Given the description of an element on the screen output the (x, y) to click on. 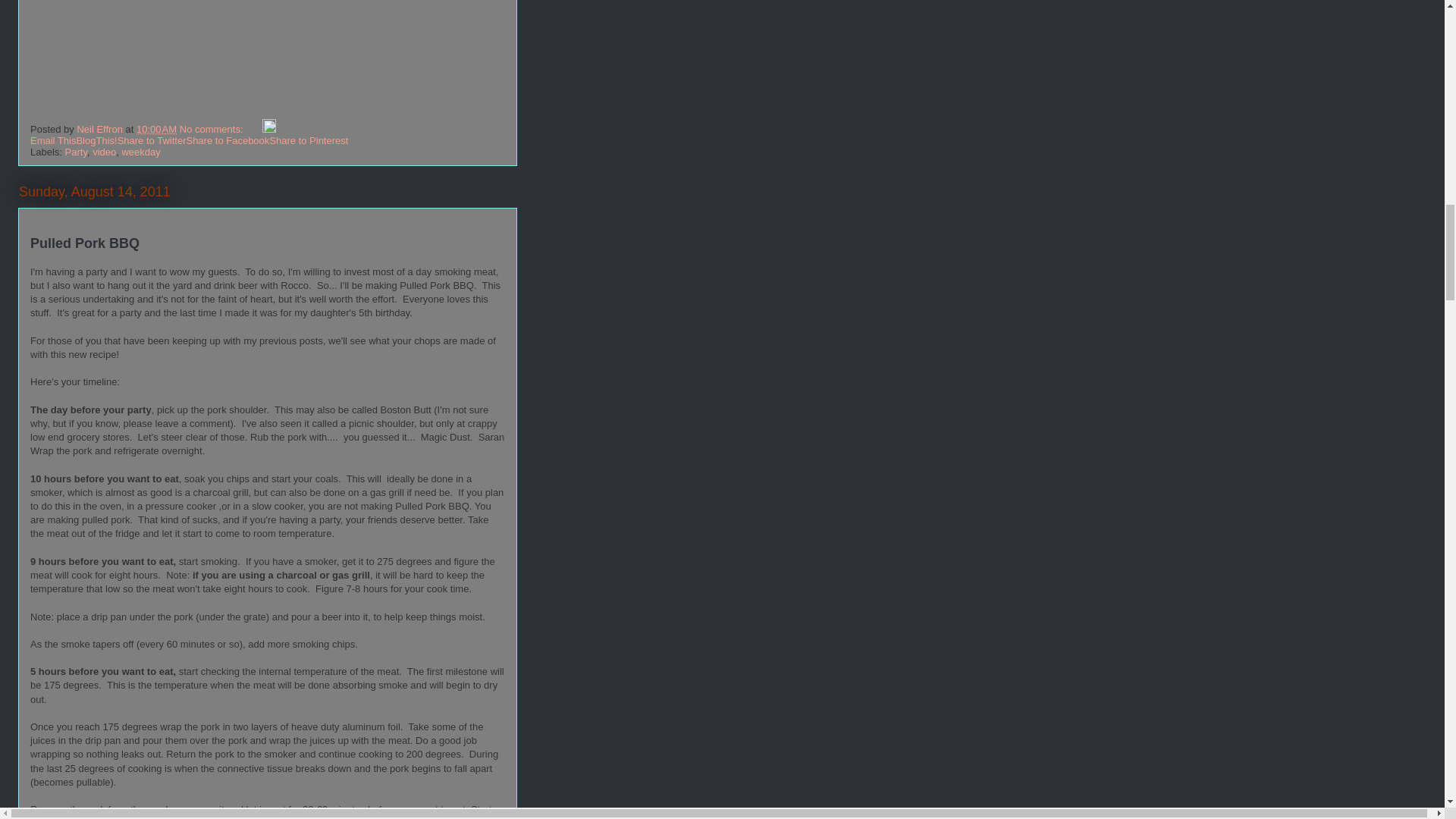
BlogThis! (95, 140)
Pulled Pork BBQ (84, 242)
Email Post (254, 129)
permanent link (156, 129)
Share to Pinterest (308, 140)
Party (76, 152)
Share to Pinterest (308, 140)
Share to Facebook (227, 140)
author profile (101, 129)
No comments: (212, 129)
Email This (52, 140)
weekday (140, 152)
Share to Twitter (151, 140)
BlogThis! (95, 140)
